Given the description of an element on the screen output the (x, y) to click on. 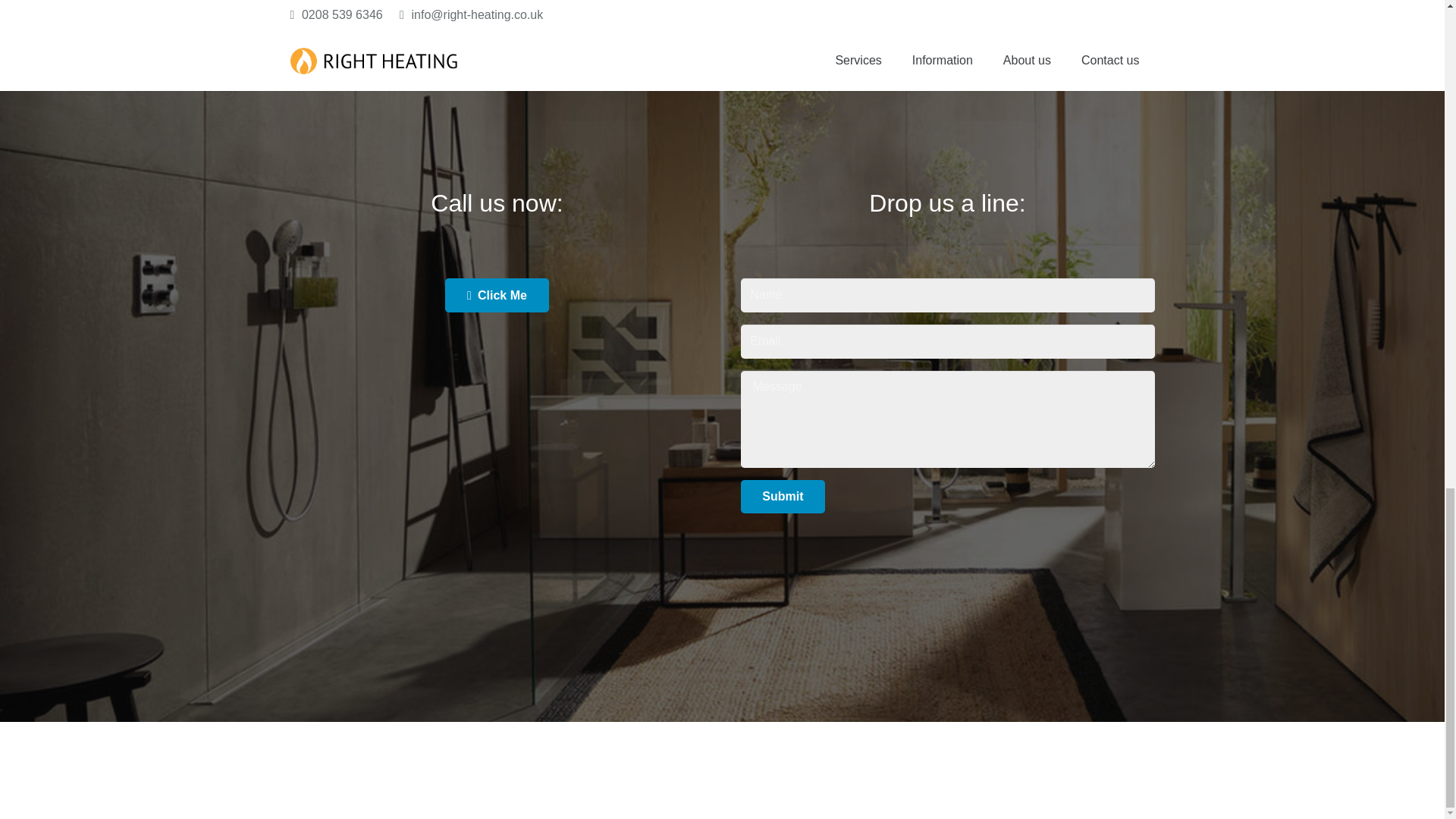
Click Me (496, 295)
Submit (782, 496)
